Given the description of an element on the screen output the (x, y) to click on. 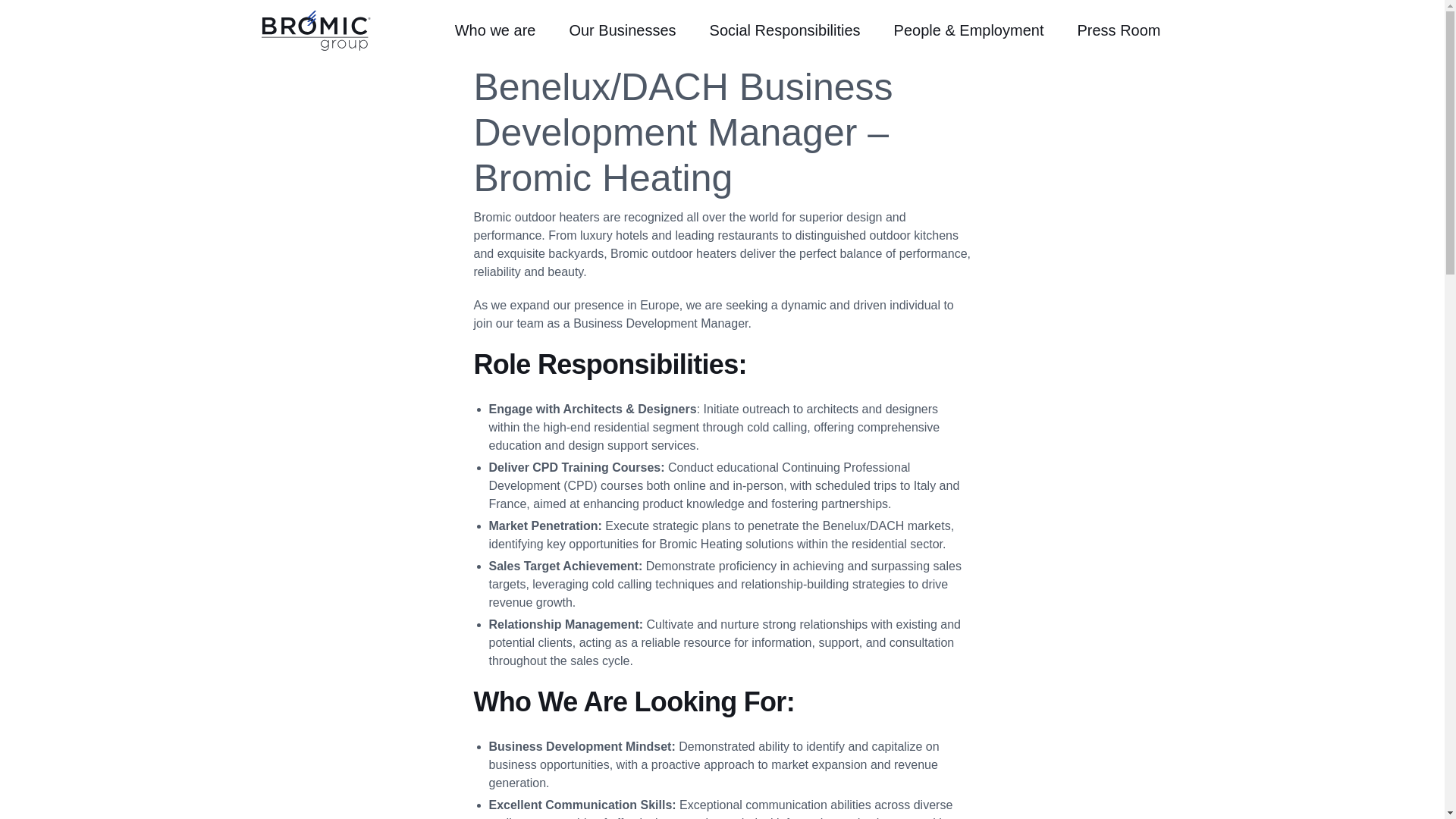
Our Businesses (627, 29)
Social Responsibilities (790, 29)
Press Room (1123, 29)
Who we are (501, 29)
Social Responsibilities (790, 29)
Who we are (501, 29)
Our Businesses (627, 29)
